Given the description of an element on the screen output the (x, y) to click on. 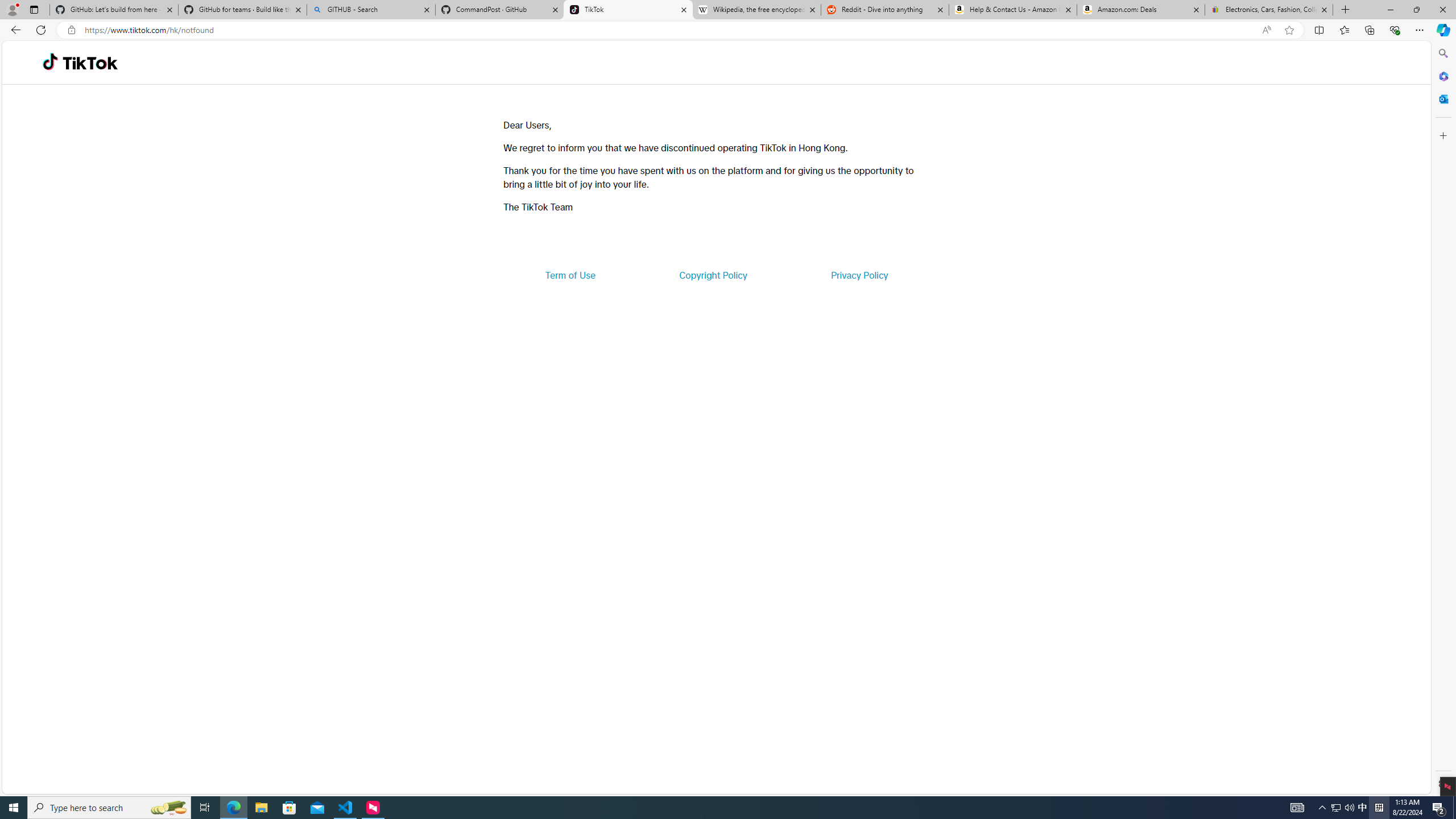
Help & Contact Us - Amazon Customer Service (1012, 9)
Copyright Policy (712, 274)
Amazon.com: Deals (1140, 9)
